Given the description of an element on the screen output the (x, y) to click on. 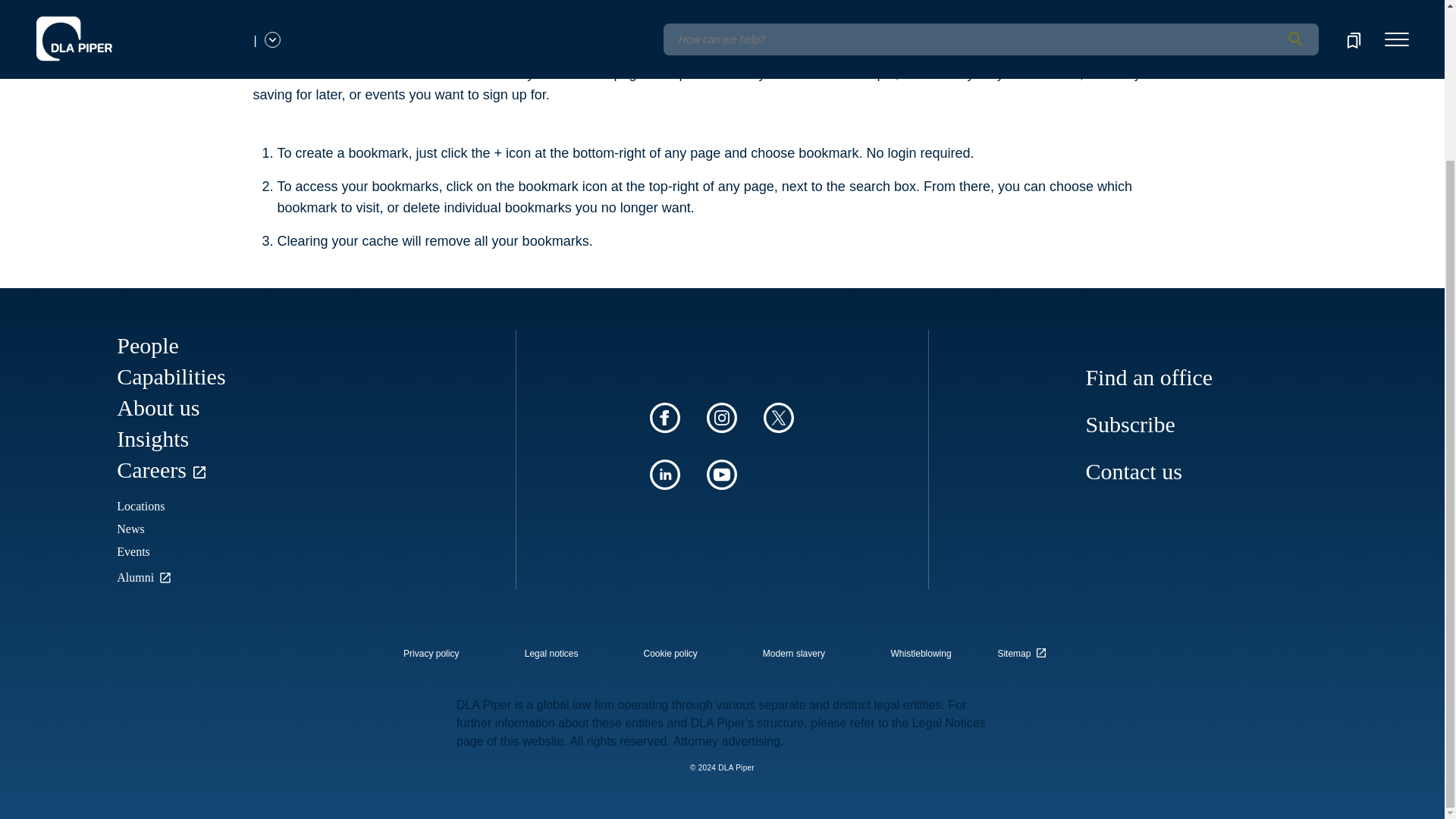
external (1024, 649)
internal (920, 653)
Locations (140, 505)
internal (670, 653)
internal (793, 653)
internal (430, 653)
Subscribe (1129, 423)
Events (132, 551)
Insights (152, 438)
Capabilities (170, 376)
Alumni (146, 576)
Find an office (1148, 376)
internal (549, 653)
News (130, 528)
Contact us (1133, 471)
